Given the description of an element on the screen output the (x, y) to click on. 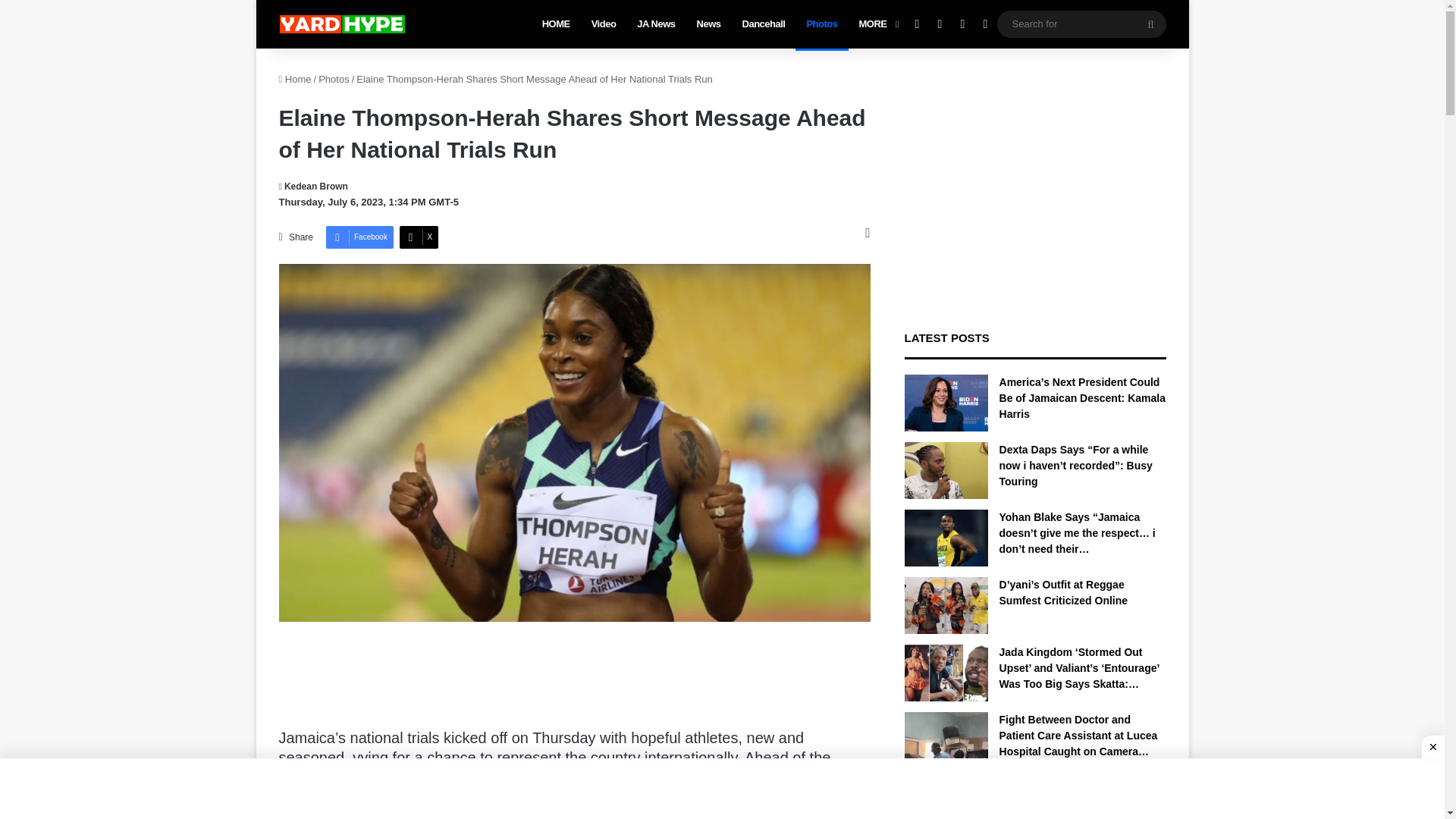
MORE (876, 24)
Photos (333, 79)
Advertisement (574, 678)
Facebook (359, 237)
Home (295, 79)
News (708, 24)
YARDHYPE (341, 24)
HOME (555, 24)
JA News (655, 24)
Facebook (359, 237)
Kedean Brown (313, 185)
Dancehall (764, 24)
X (418, 237)
Video (603, 24)
Photos (820, 24)
